Given the description of an element on the screen output the (x, y) to click on. 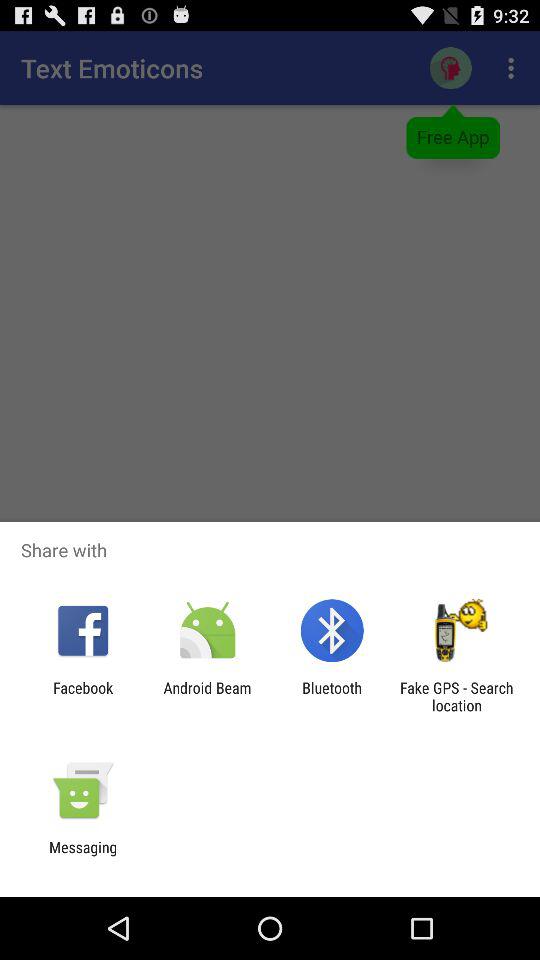
choose the item next to the fake gps search app (331, 696)
